Given the description of an element on the screen output the (x, y) to click on. 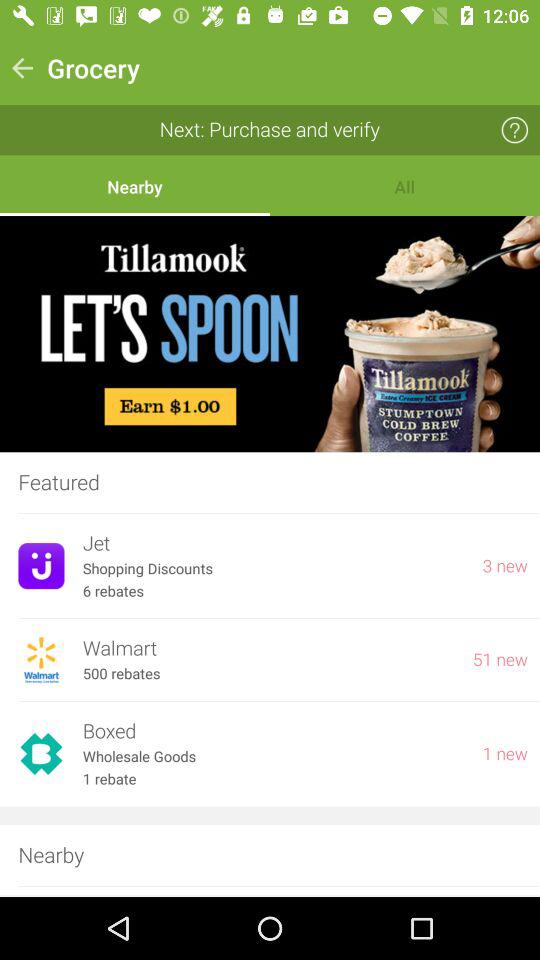
turn off item to the left of 51 new item (121, 673)
